Given the description of an element on the screen output the (x, y) to click on. 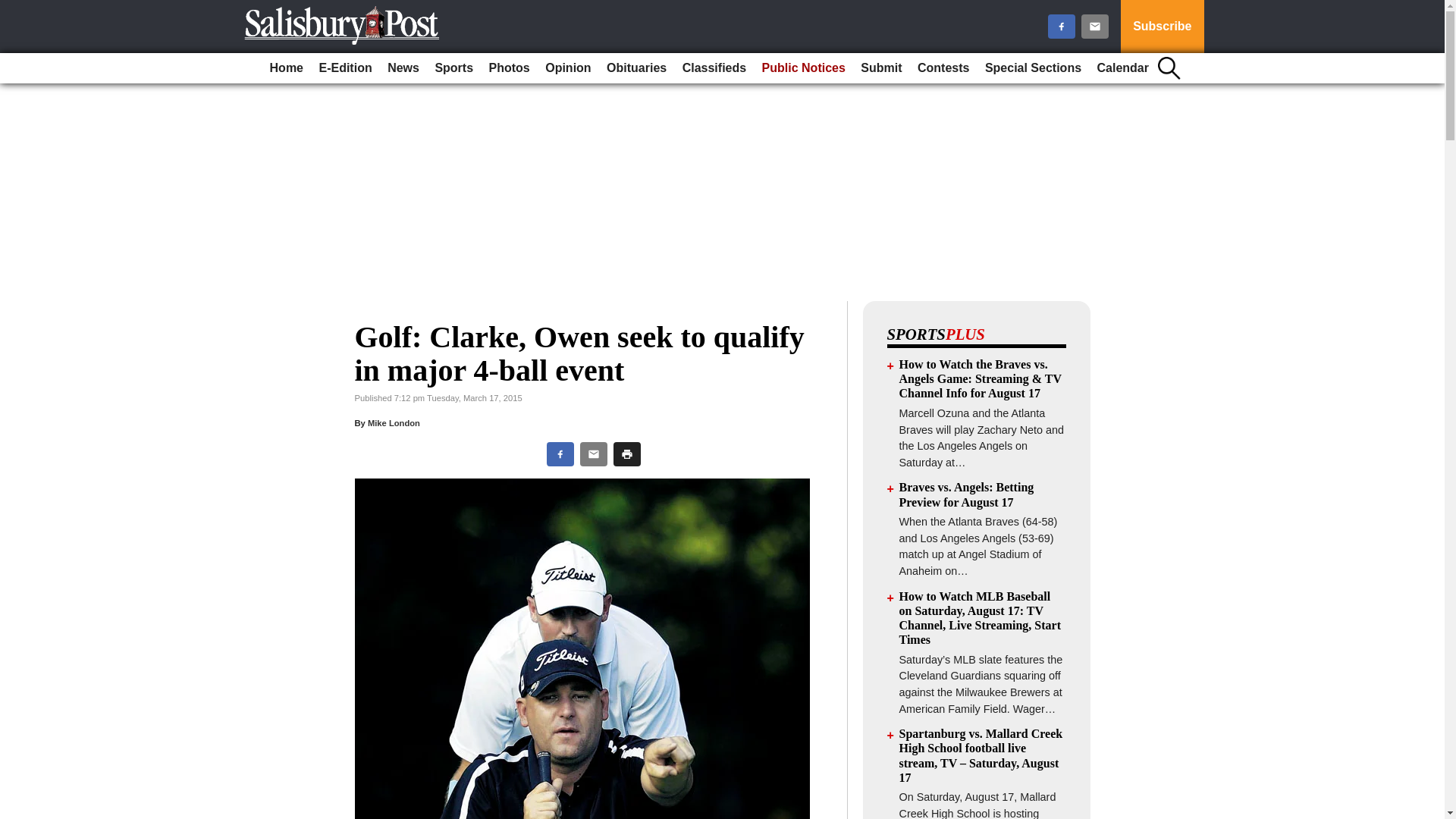
Photos (509, 68)
Public Notices (803, 68)
Sports (453, 68)
Opinion (567, 68)
Submit (880, 68)
Subscribe (1162, 26)
E-Edition (345, 68)
Obituaries (635, 68)
Special Sections (1032, 68)
